Given the description of an element on the screen output the (x, y) to click on. 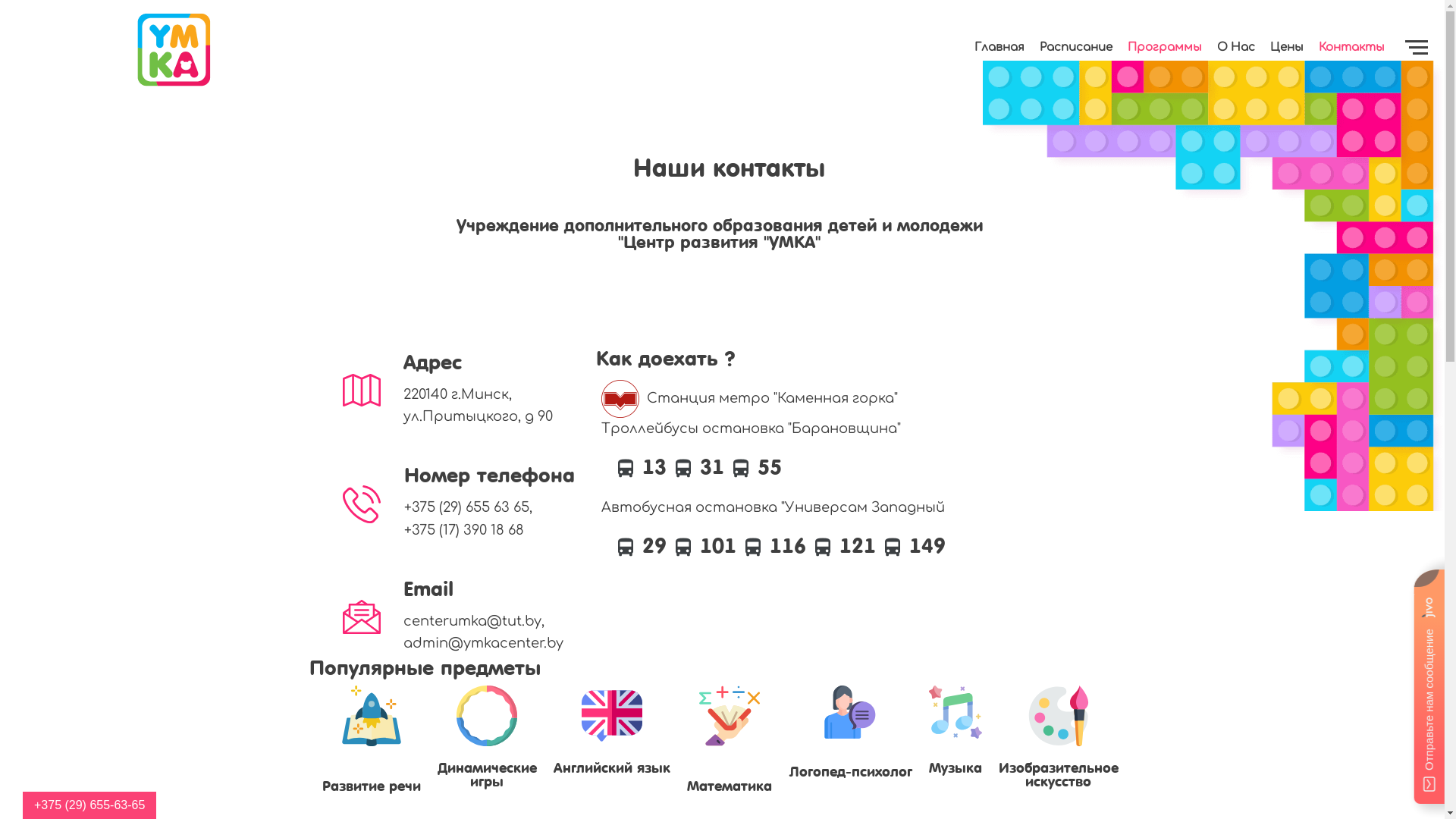
centerumka@tut.by Element type: text (491, 621)
+375 (29) 655 63 65 Element type: text (491, 507)
admin@ymkacenter.by Element type: text (491, 643)
+375 (17) 390 18 68 Element type: text (491, 530)
